Given the description of an element on the screen output the (x, y) to click on. 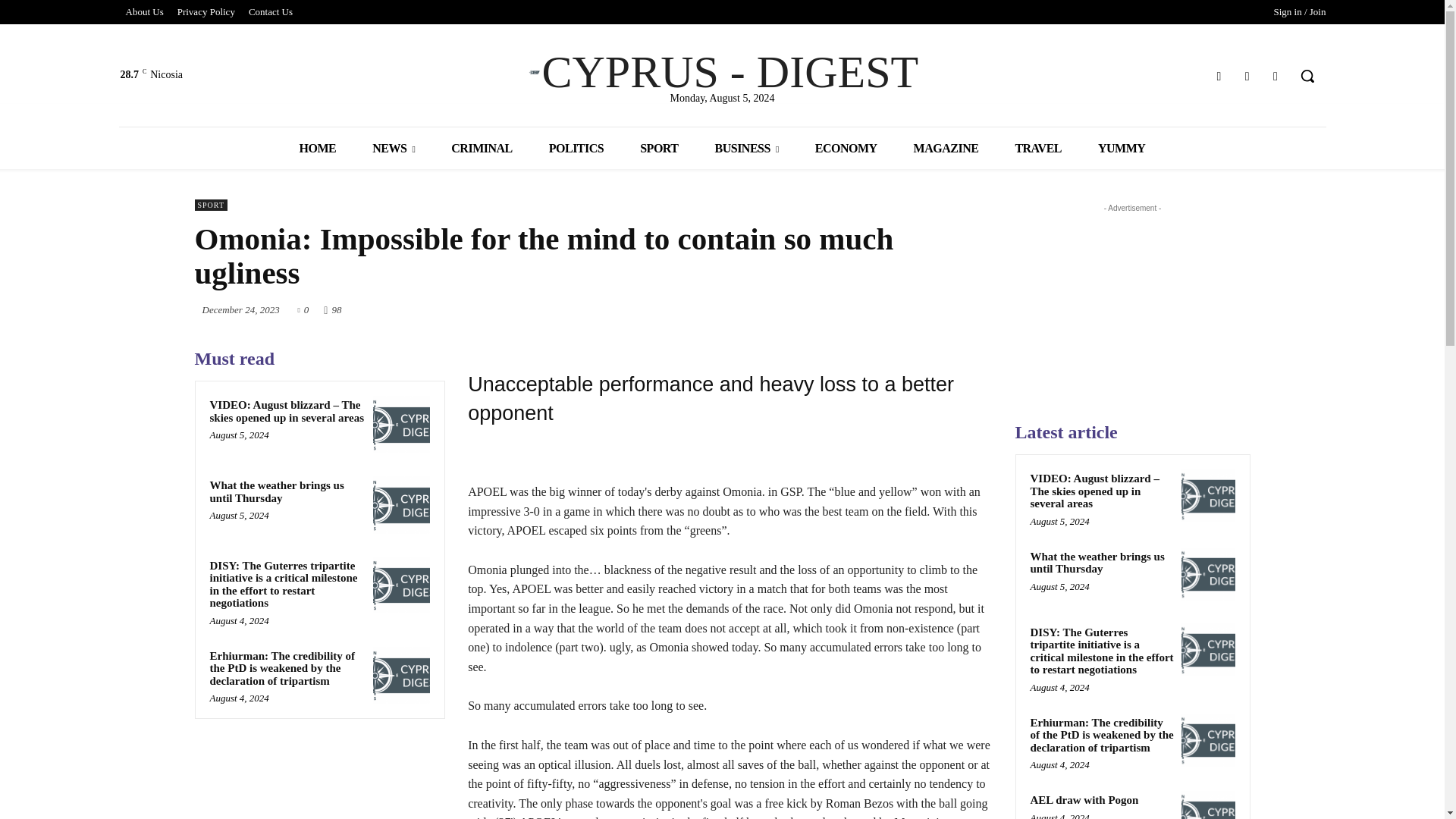
About Us (143, 12)
Privacy Policy (205, 12)
HOME (318, 147)
Twitter (1246, 76)
CYPRUS - DIGEST (721, 71)
NEWS (392, 147)
Contact Us (270, 12)
Facebook (1218, 76)
Youtube (1275, 76)
